Given the description of an element on the screen output the (x, y) to click on. 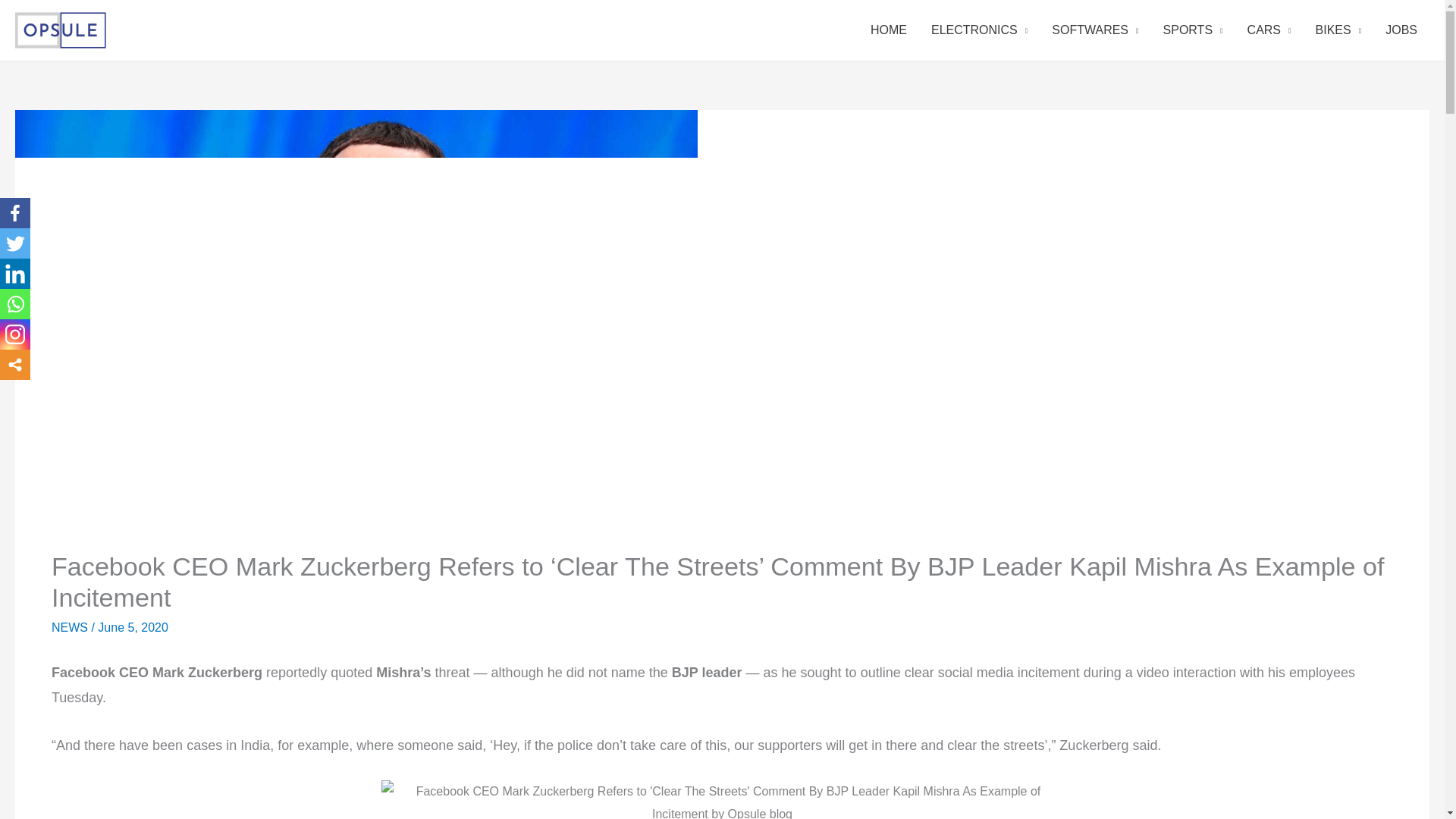
Facebook (15, 213)
Twitter (15, 243)
BIKES (1338, 30)
CARS (1268, 30)
Instagram (15, 334)
More (15, 364)
Linkedin (15, 273)
ELECTRONICS (978, 30)
SPORTS (1192, 30)
JOBS (1401, 30)
